Given the description of an element on the screen output the (x, y) to click on. 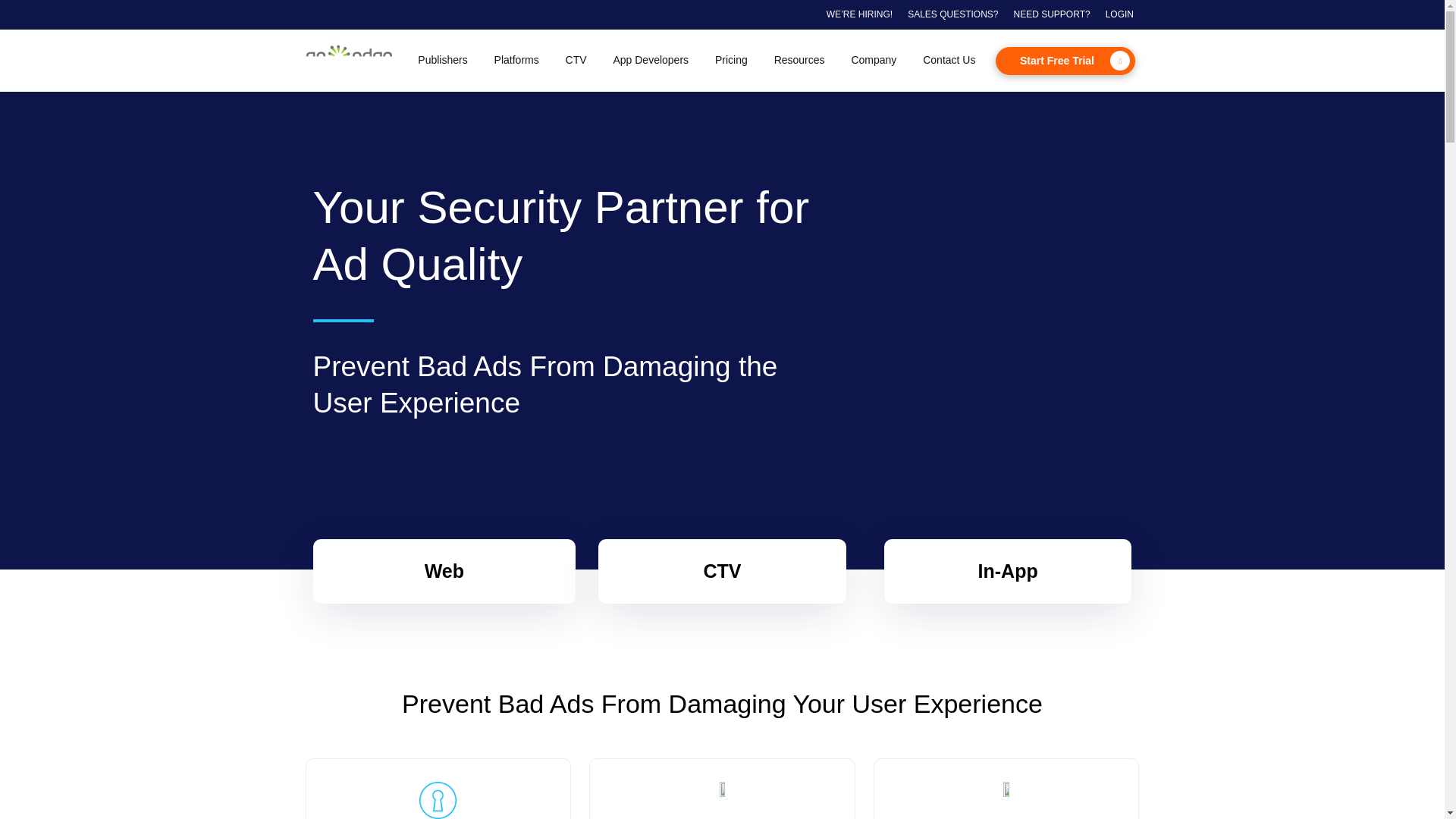
NEED SUPPORT? (1051, 14)
Publishers (442, 60)
Company (874, 60)
SALES QUESTIONS? (952, 14)
Start Free Trial (1065, 60)
Resources (799, 60)
LOGIN (1119, 14)
CTV (575, 60)
Pricing (731, 60)
App Developers (650, 60)
Contact Us (949, 60)
Platforms (515, 60)
